Given the description of an element on the screen output the (x, y) to click on. 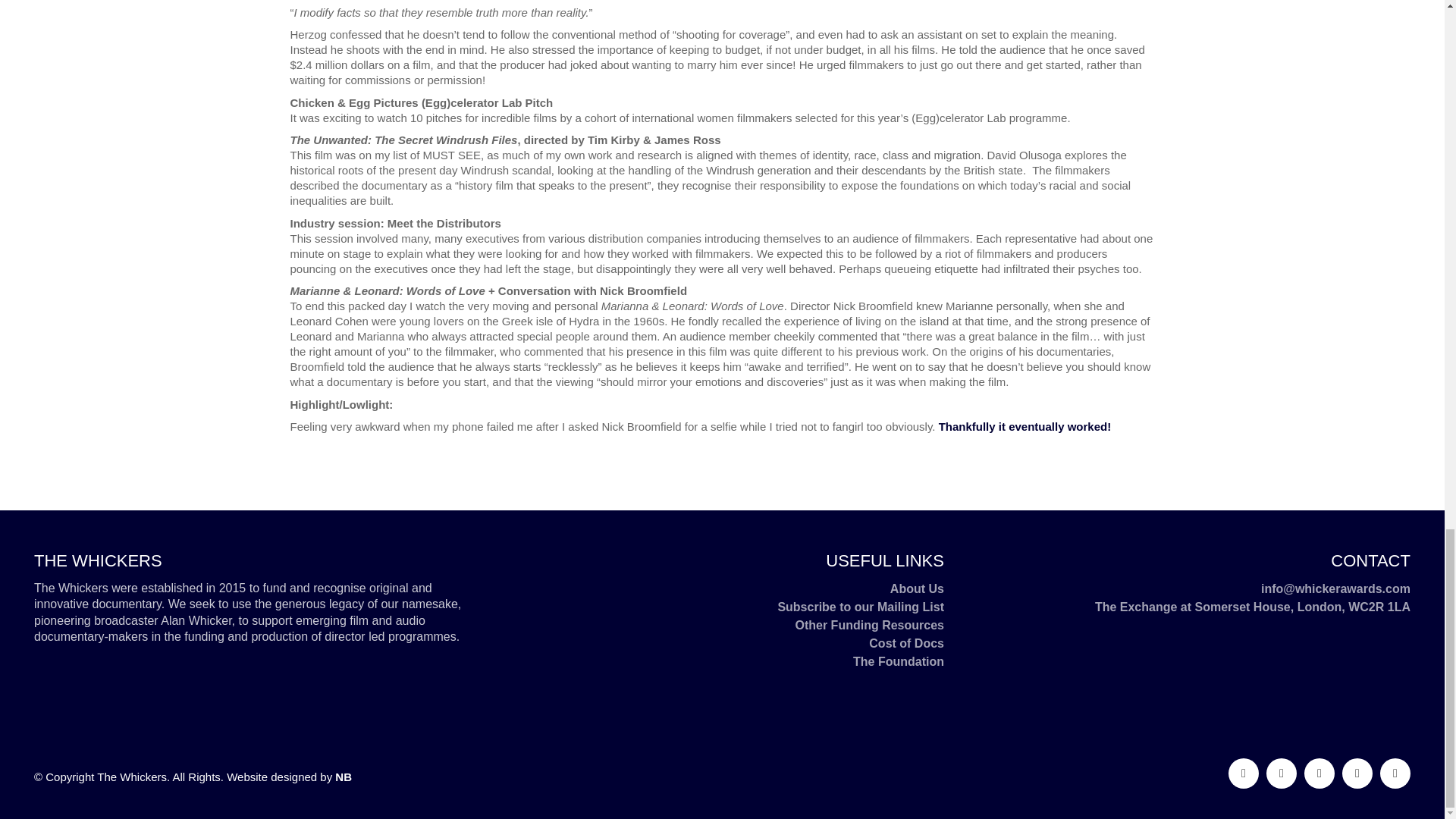
Email (1243, 773)
YouTube (1395, 773)
Facebook (1281, 773)
Subscribe to our Mailing List (860, 607)
The Foundation (898, 661)
Thankfully it eventually worked! (1025, 426)
Cost of Docs (906, 643)
Subscribe to our Mailing List (860, 607)
Instagram (1357, 773)
The Exchange at Somerset House, London, WC2R 1LA (1252, 607)
About Us (916, 588)
NB (343, 776)
Other Funding Resources (868, 625)
Twitter X (1319, 773)
